Given the description of an element on the screen output the (x, y) to click on. 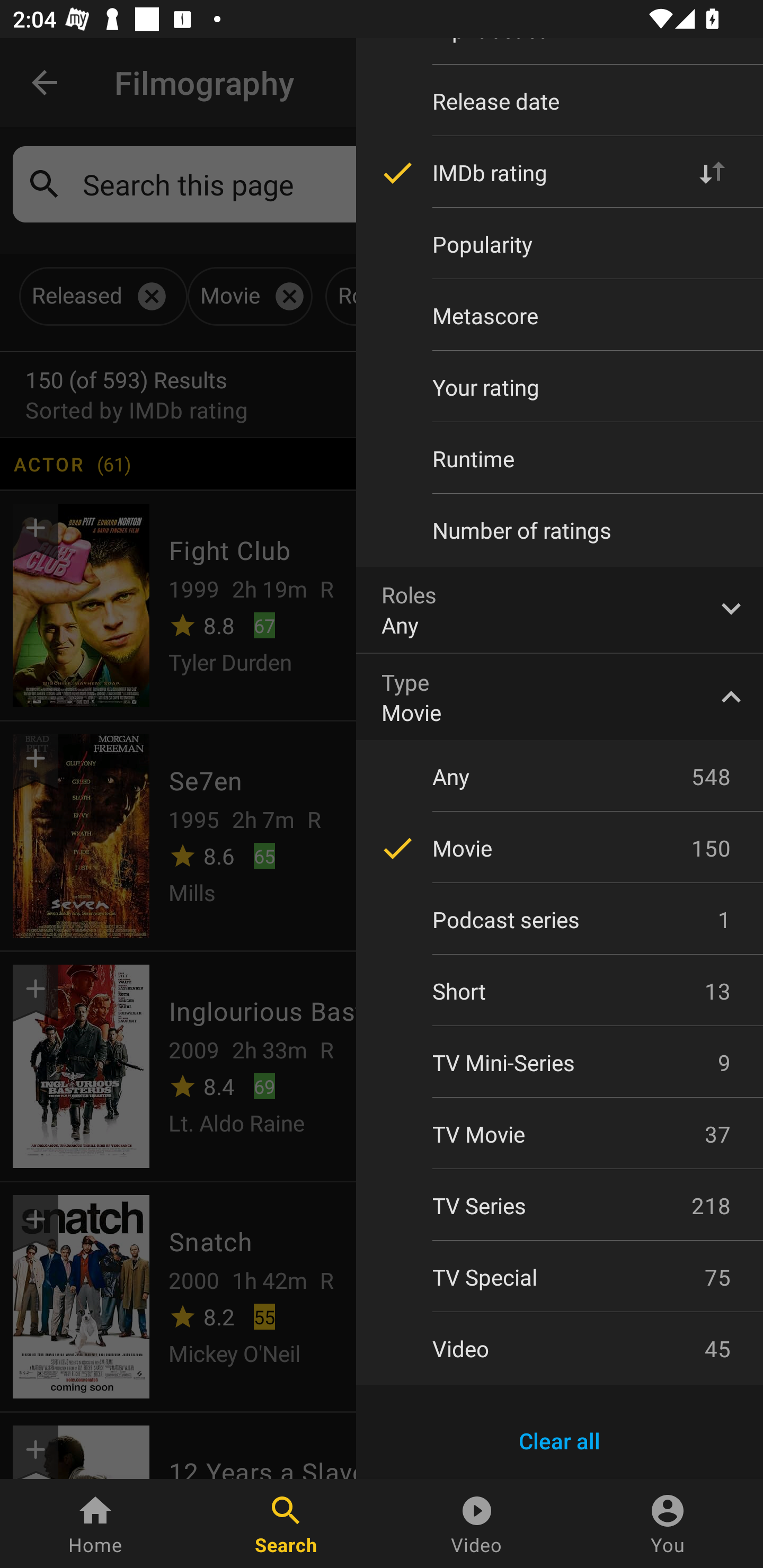
Release date (559, 100)
IMDb rating (559, 171)
Popularity (559, 243)
Metascore (559, 315)
Your rating (559, 386)
Runtime (559, 458)
Number of ratings (559, 529)
Roles Any (559, 609)
Type Movie (559, 696)
Any 548 (559, 776)
Movie 150 (559, 847)
Podcast series 1 (559, 919)
Short 13 (559, 990)
TV Mini-Series 9 (559, 1062)
TV Movie 37 (559, 1134)
TV Series 218 (559, 1205)
TV Special 75 (559, 1276)
Video 45 (559, 1347)
Clear all (559, 1440)
Home (95, 1523)
Video (476, 1523)
You (667, 1523)
